Given the description of an element on the screen output the (x, y) to click on. 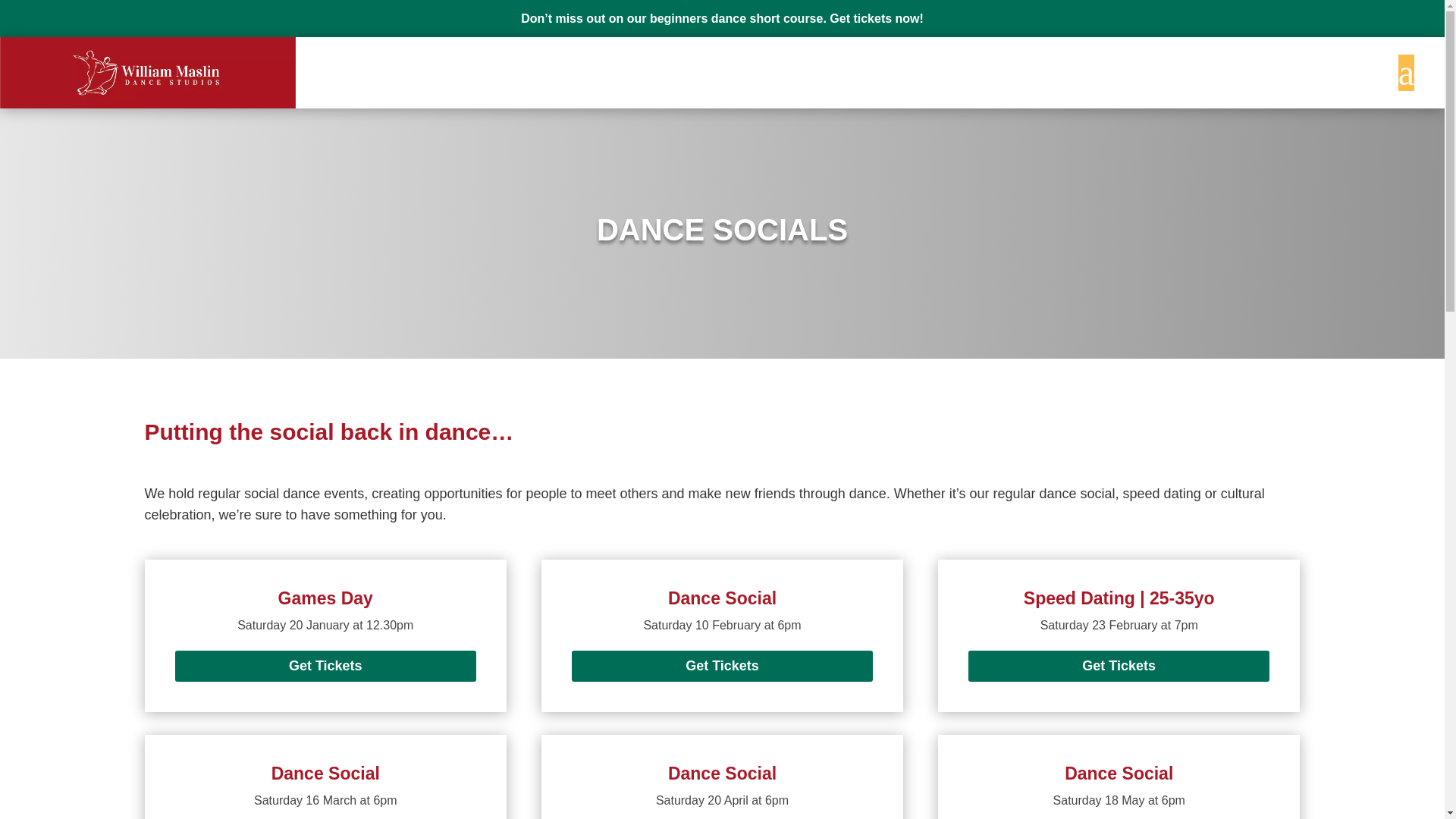
Get Tickets (325, 665)
Get Tickets (722, 665)
Get Tickets (1118, 665)
